Given the description of an element on the screen output the (x, y) to click on. 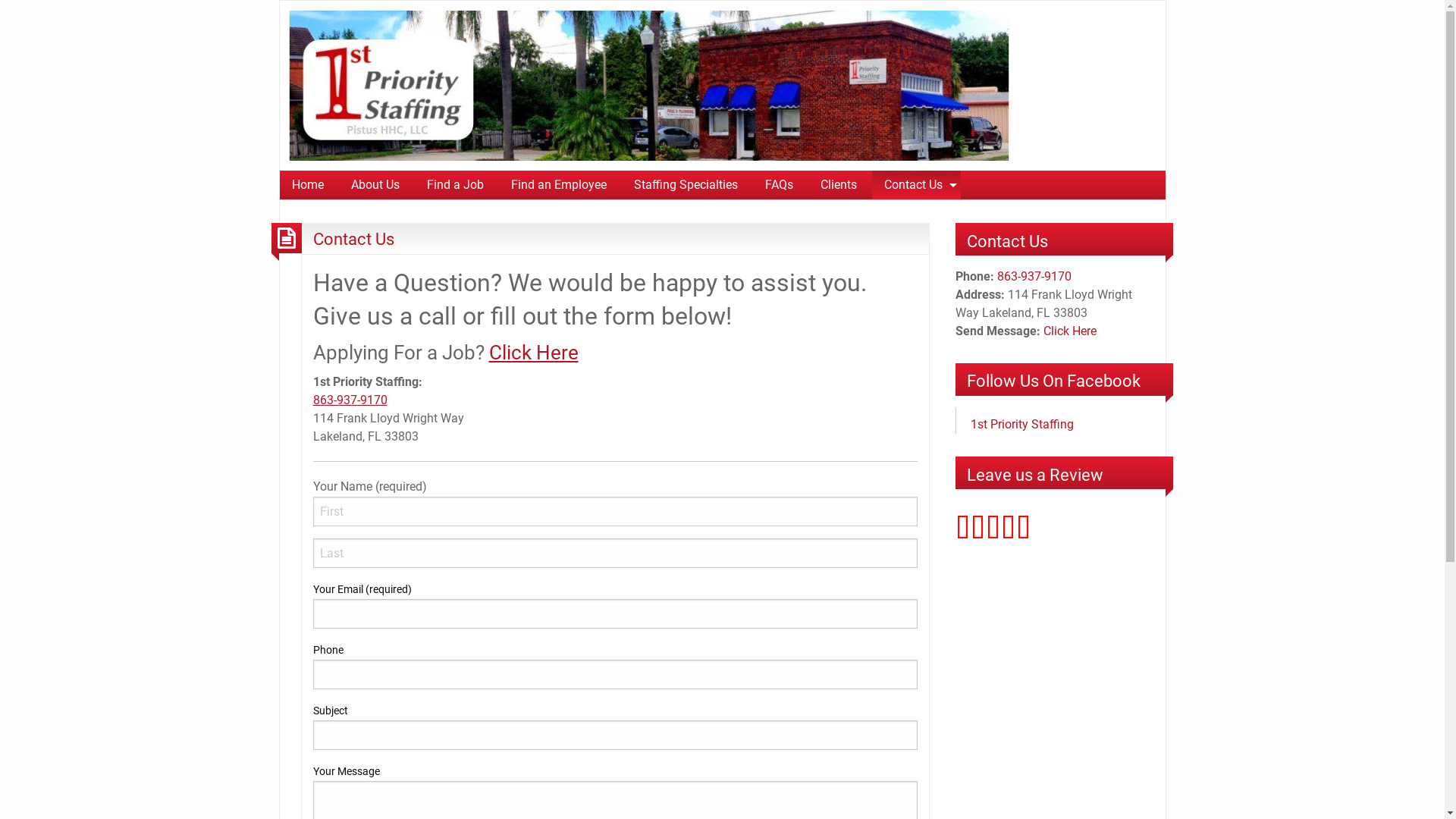
1st Priority Staffing Element type: hover (648, 84)
Contact Us Element type: text (916, 184)
863-937-9170 Element type: text (349, 399)
Click Here Element type: text (1069, 330)
Staffing Specialties Element type: text (685, 184)
Click Here Element type: text (532, 352)
Find a Job Element type: text (454, 184)
Find an Employee Element type: text (558, 184)
Contact Us Element type: text (352, 238)
Clients Element type: text (838, 184)
About Us Element type: text (374, 184)
Home Element type: text (307, 184)
FAQs Element type: text (778, 184)
863-937-9170 Element type: text (1033, 276)
1st Priority Staffing Element type: text (1021, 424)
